Given the description of an element on the screen output the (x, y) to click on. 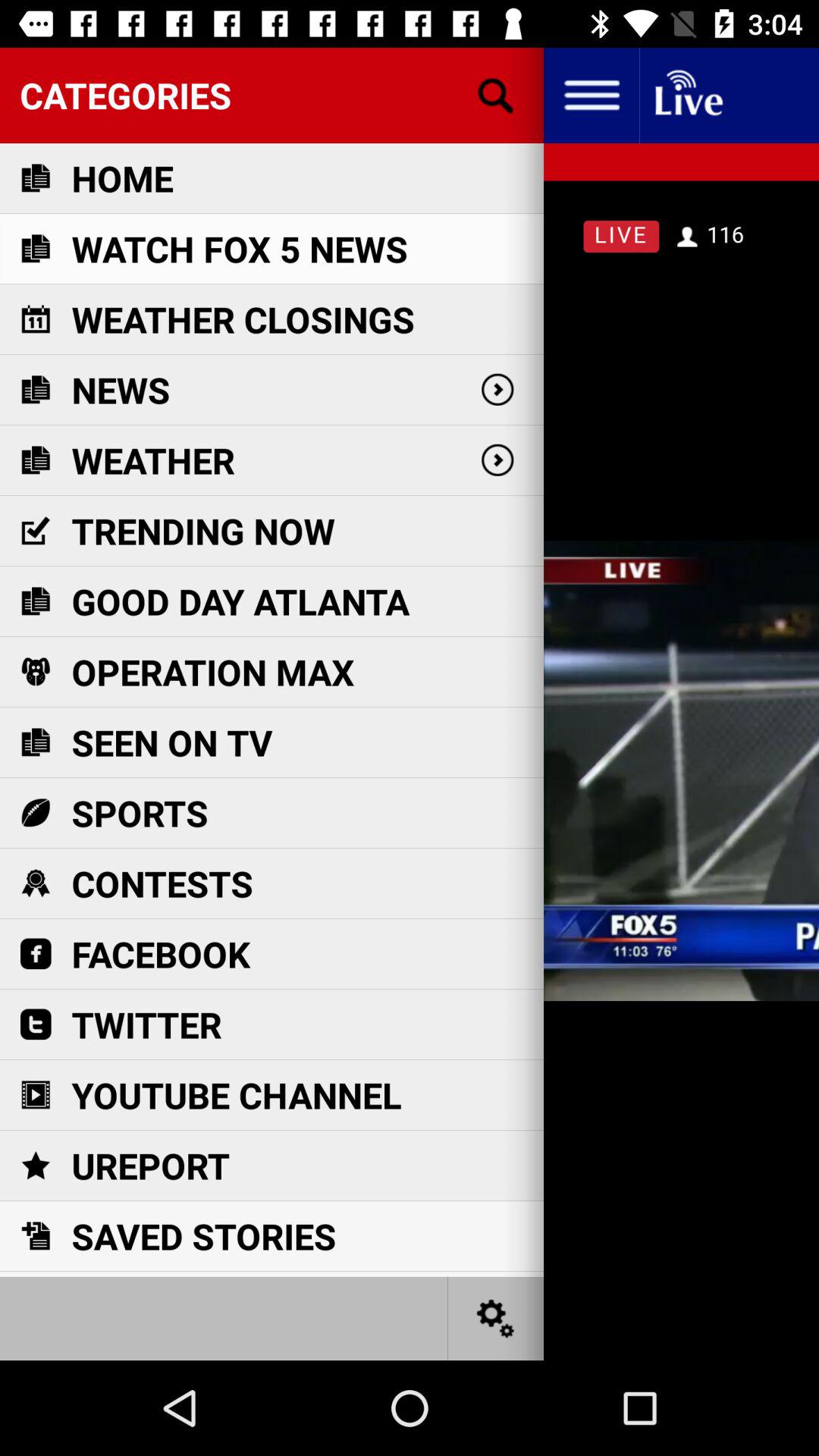
settings icon (591, 95)
